Given the description of an element on the screen output the (x, y) to click on. 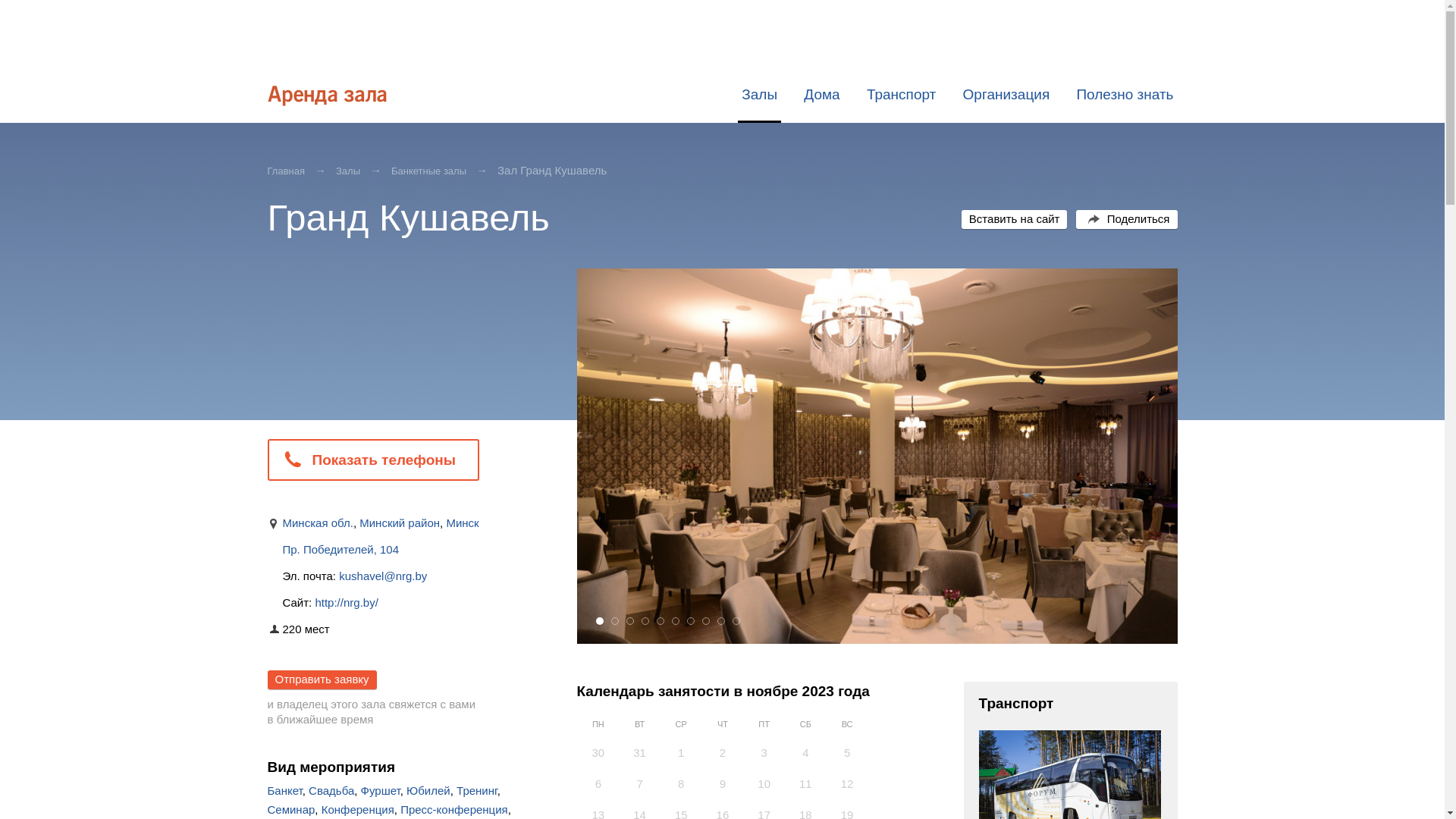
3 Element type: text (629, 620)
kushavel@nrg.by Element type: text (382, 575)
9 Element type: text (720, 620)
10 Element type: text (736, 620)
5 Element type: text (660, 620)
http://nrg.by/ Element type: text (345, 602)
8 Element type: text (705, 620)
2 Element type: text (614, 620)
1 Element type: text (599, 620)
4 Element type: text (645, 620)
6 Element type: text (675, 620)
7 Element type: text (690, 620)
